Given the description of an element on the screen output the (x, y) to click on. 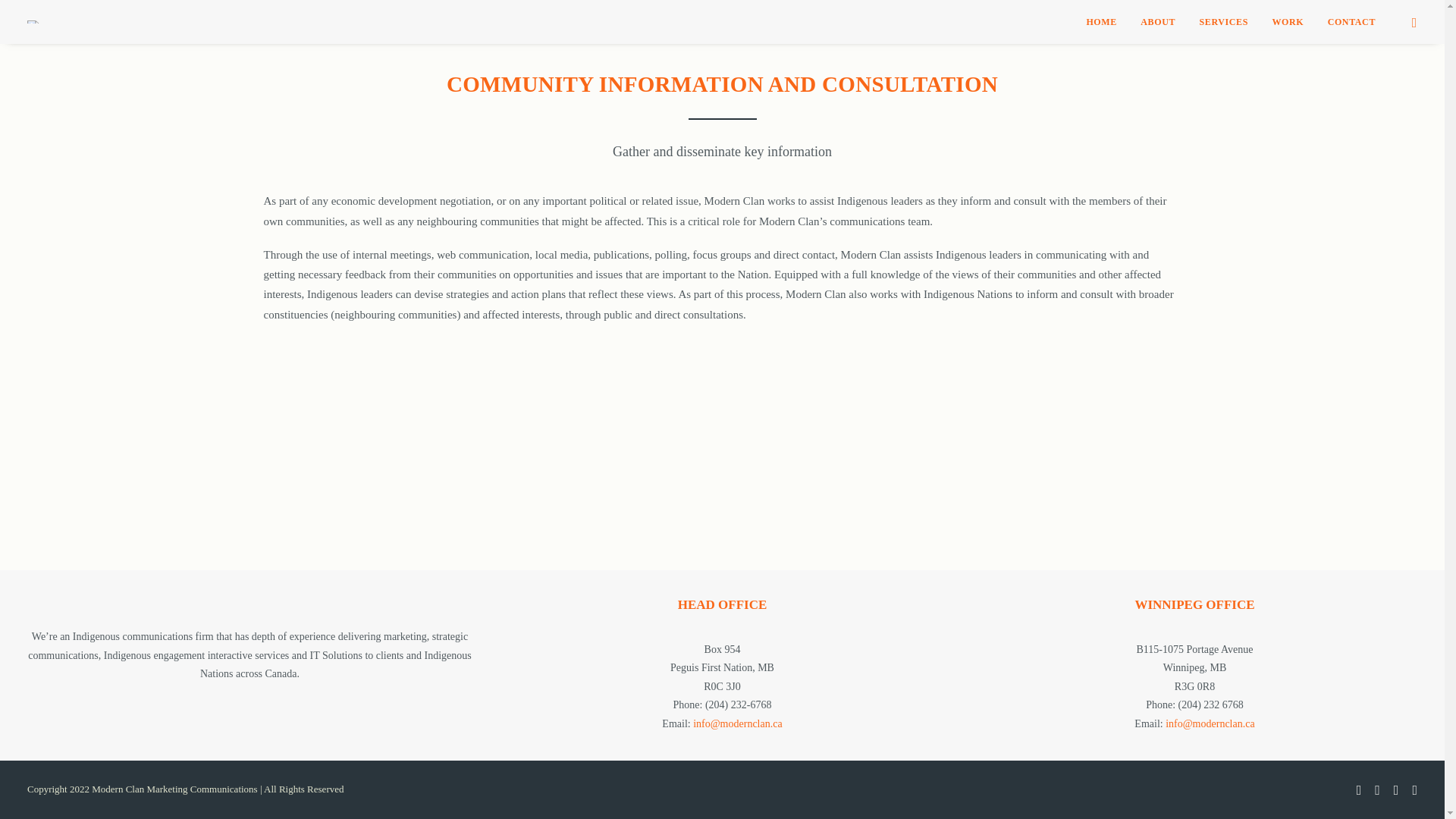
About (1157, 22)
SERVICES (1224, 22)
WORK (1287, 22)
Work (1287, 22)
Services (1224, 22)
Home (1100, 22)
Contact (1346, 22)
HOME (1100, 22)
CONTACT (1346, 22)
ABOUT (1157, 22)
